Given the description of an element on the screen output the (x, y) to click on. 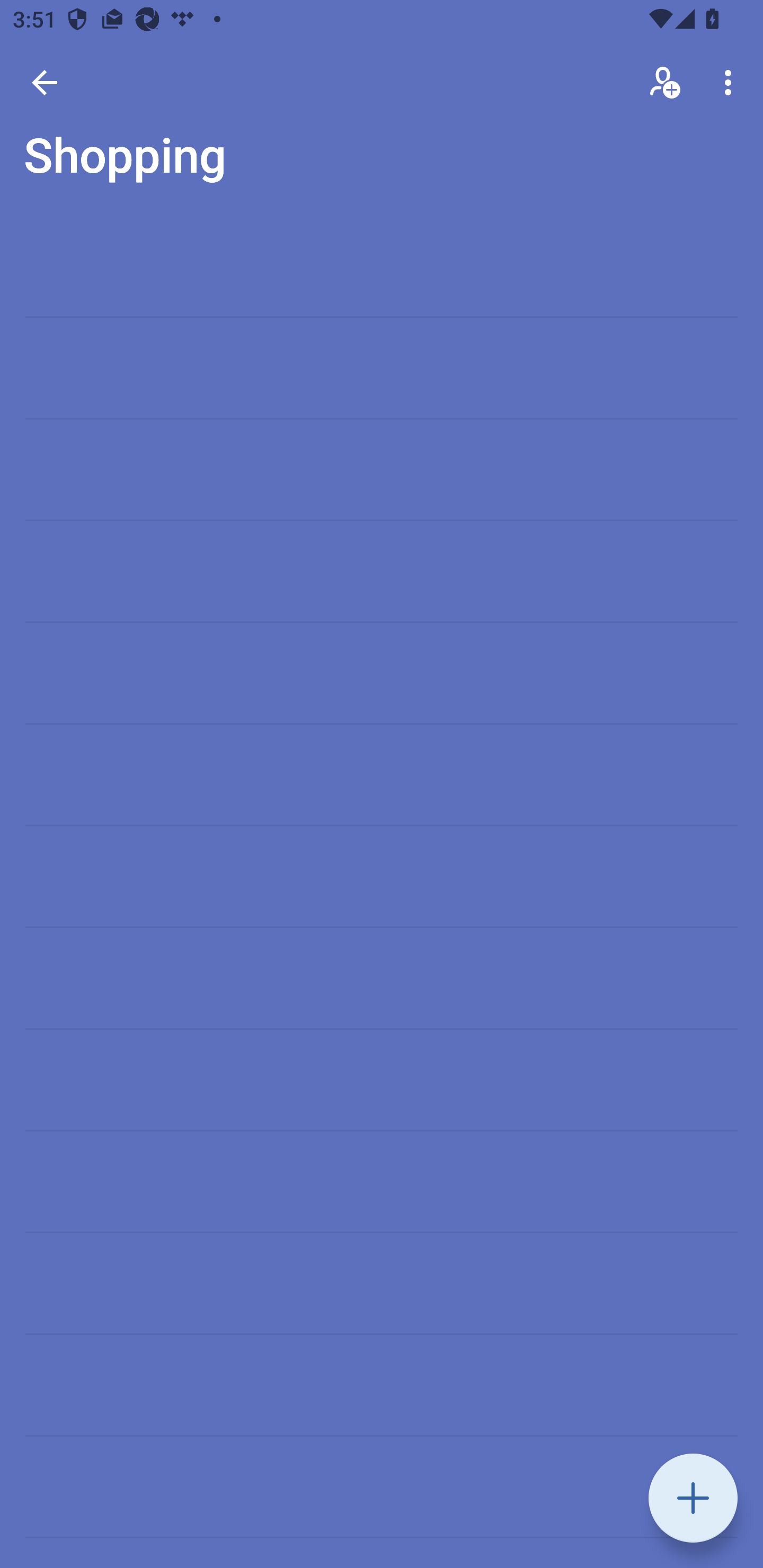
Add a task (692, 1497)
